Given the description of an element on the screen output the (x, y) to click on. 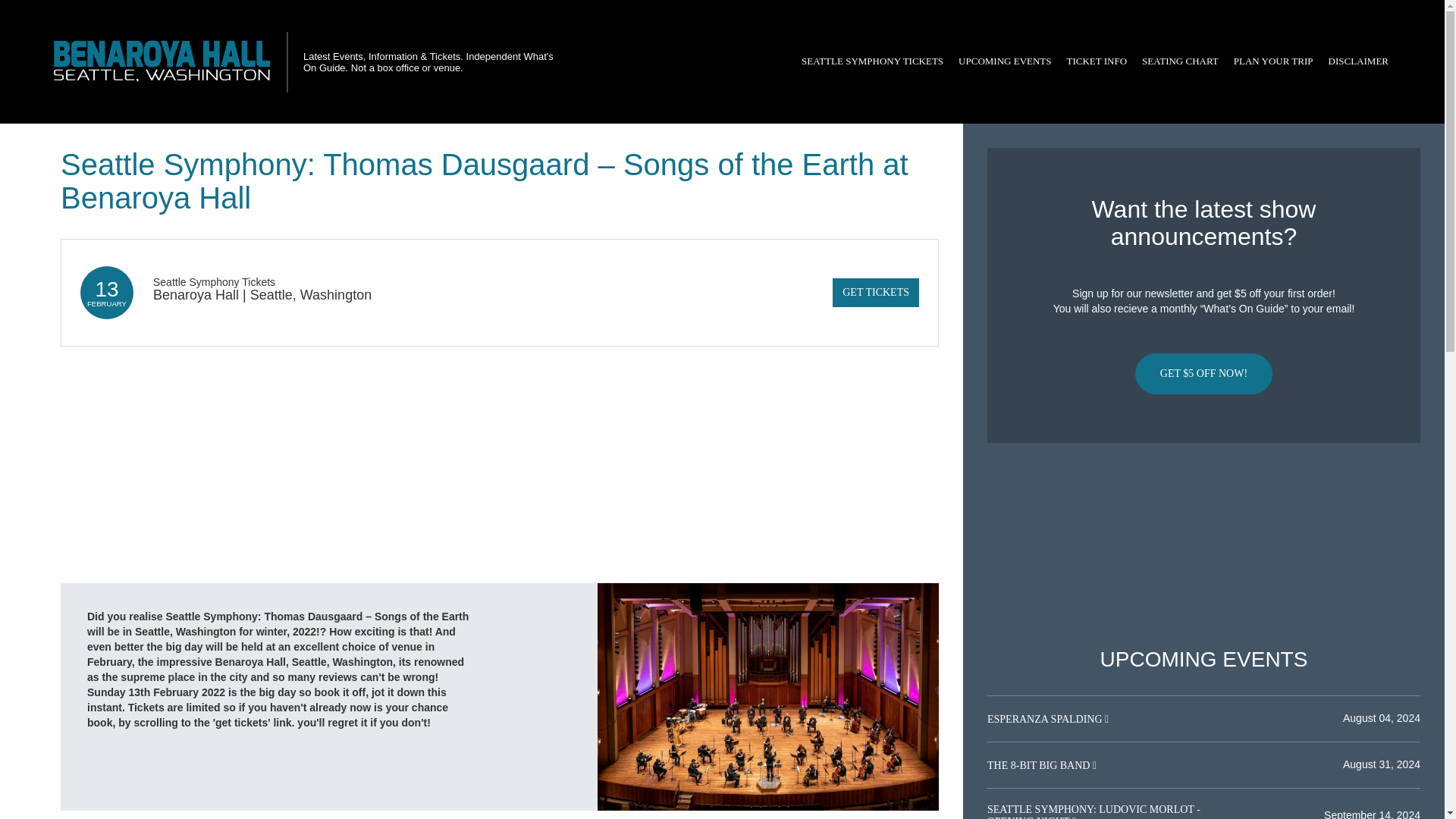
GET TICKETS (875, 292)
SEATTLE SYMPHONY TICKETS (871, 61)
UPCOMING EVENTS (1004, 61)
PLAN YOUR TRIP (1272, 61)
Seattle Symphony Tickets (213, 282)
ESPERANZA SPALDING (1046, 718)
DISCLAIMER (1358, 61)
TICKET INFO (1097, 61)
SEATING CHART (1179, 61)
